Given the description of an element on the screen output the (x, y) to click on. 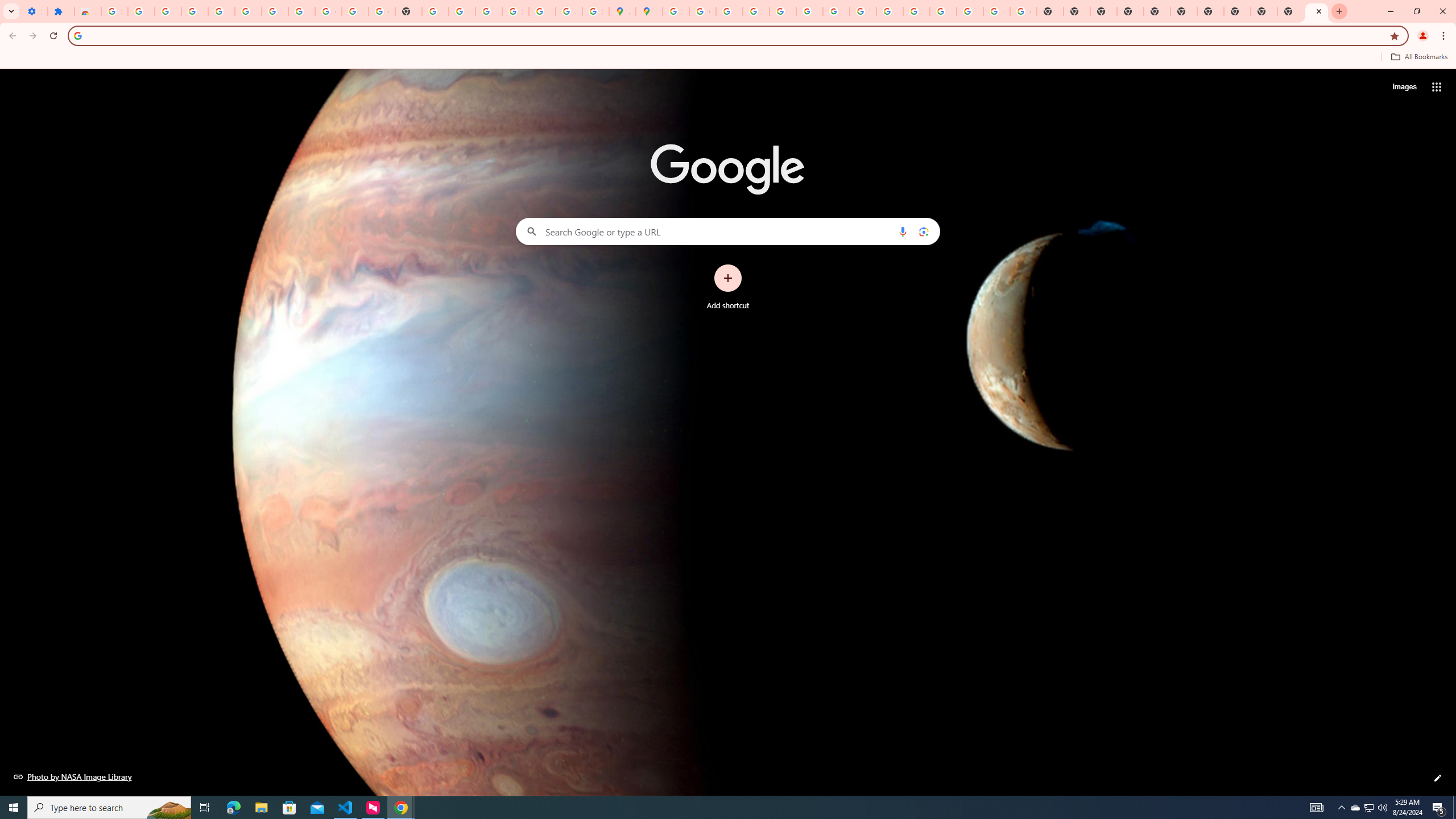
Reviews: Helix Fruit Jump Arcade Game (87, 11)
